Given the description of an element on the screen output the (x, y) to click on. 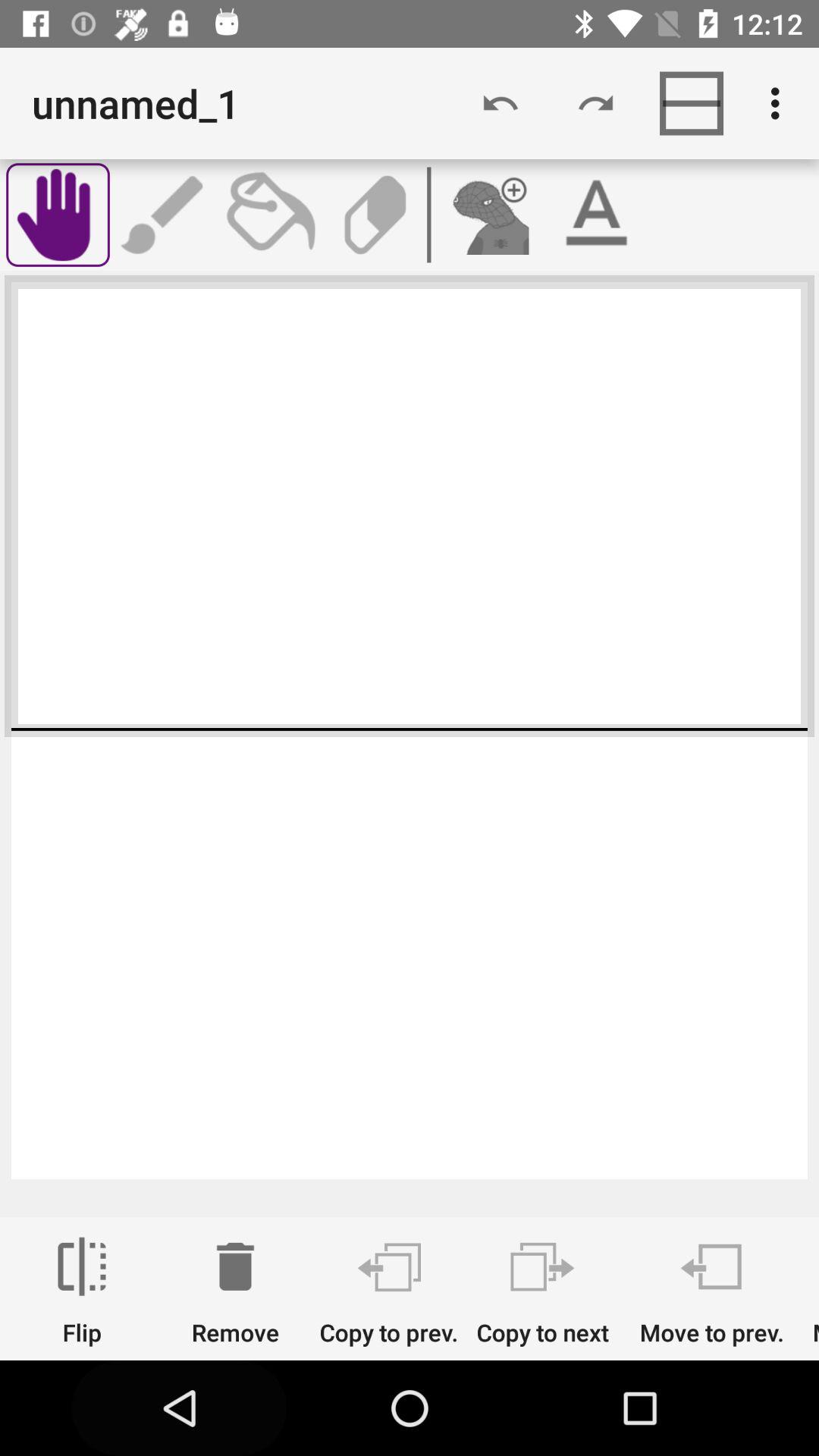
press the remove (235, 1291)
